Given the description of an element on the screen output the (x, y) to click on. 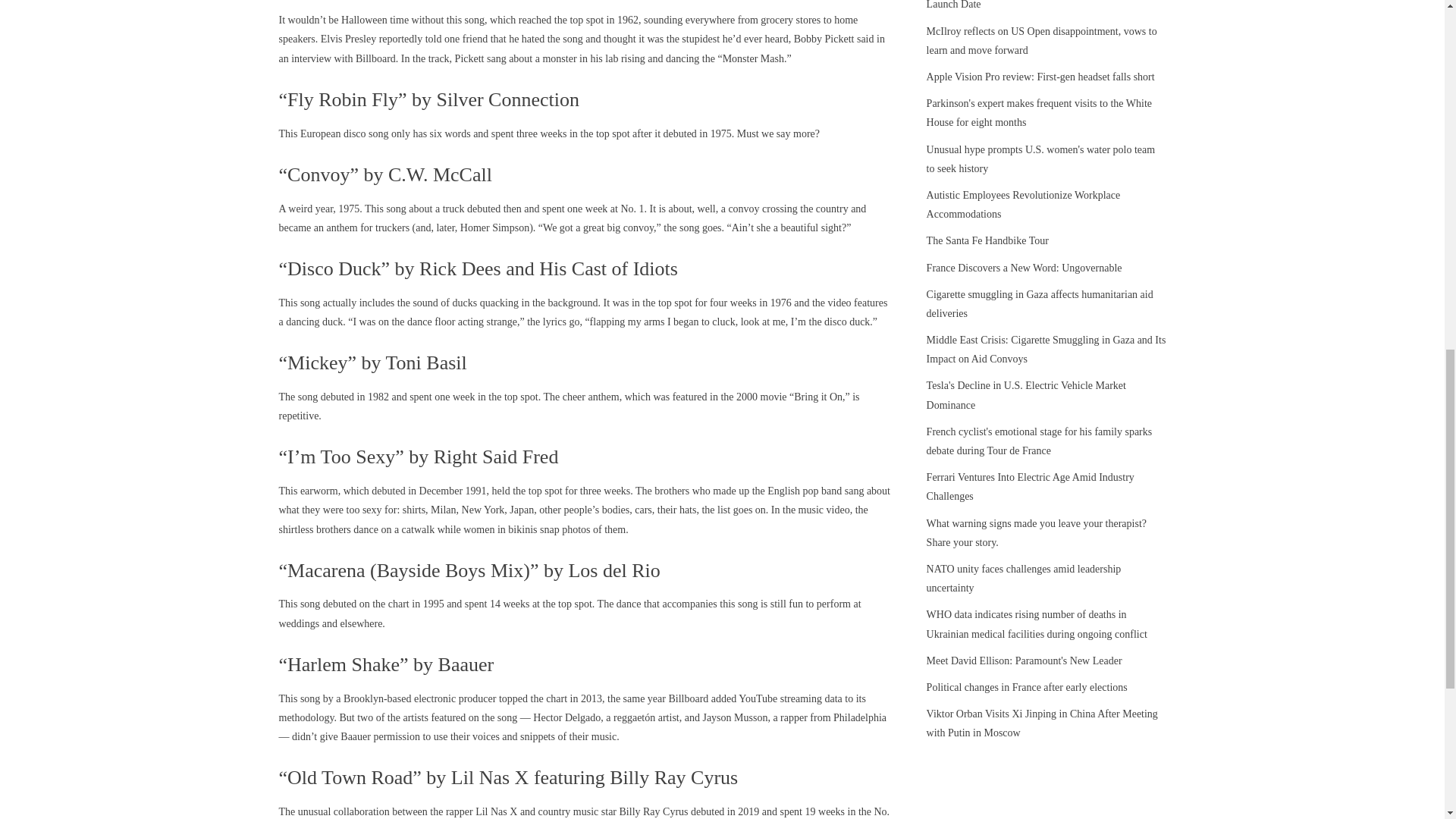
three weeks (541, 133)
the same year Billboard added (671, 698)
top spot for four weeks (707, 302)
Homer Simpson (494, 227)
spent one week (441, 396)
spent one week (574, 208)
debuted on the chart (366, 603)
held the top spot (527, 490)
which reached the top spot in 1962 (564, 19)
said in an interview with Billboard (582, 48)
19 weeks (825, 811)
